Given the description of an element on the screen output the (x, y) to click on. 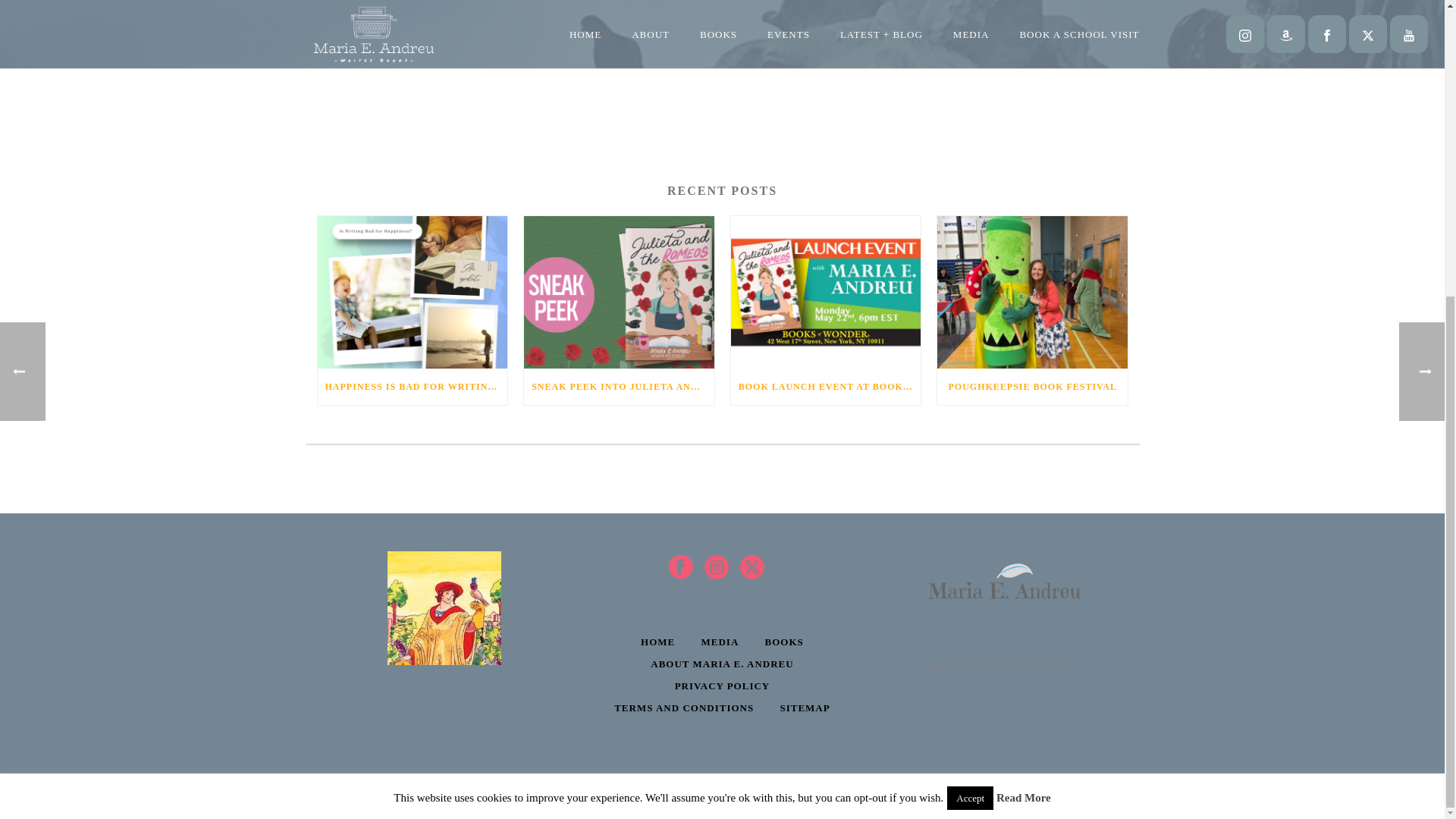
Follow Me On instagram (716, 568)
Sneak Peek into JULIETA AND THE ROMEOS (619, 292)
Poughkeepsie Book Festival (1031, 292)
Follow Me On twitter (751, 568)
Follow Me On facebook (680, 568)
Happiness is bad for writing. Is writing bad for happiness? (411, 292)
Book Launch Event at Books of Wonder (825, 292)
